Given the description of an element on the screen output the (x, y) to click on. 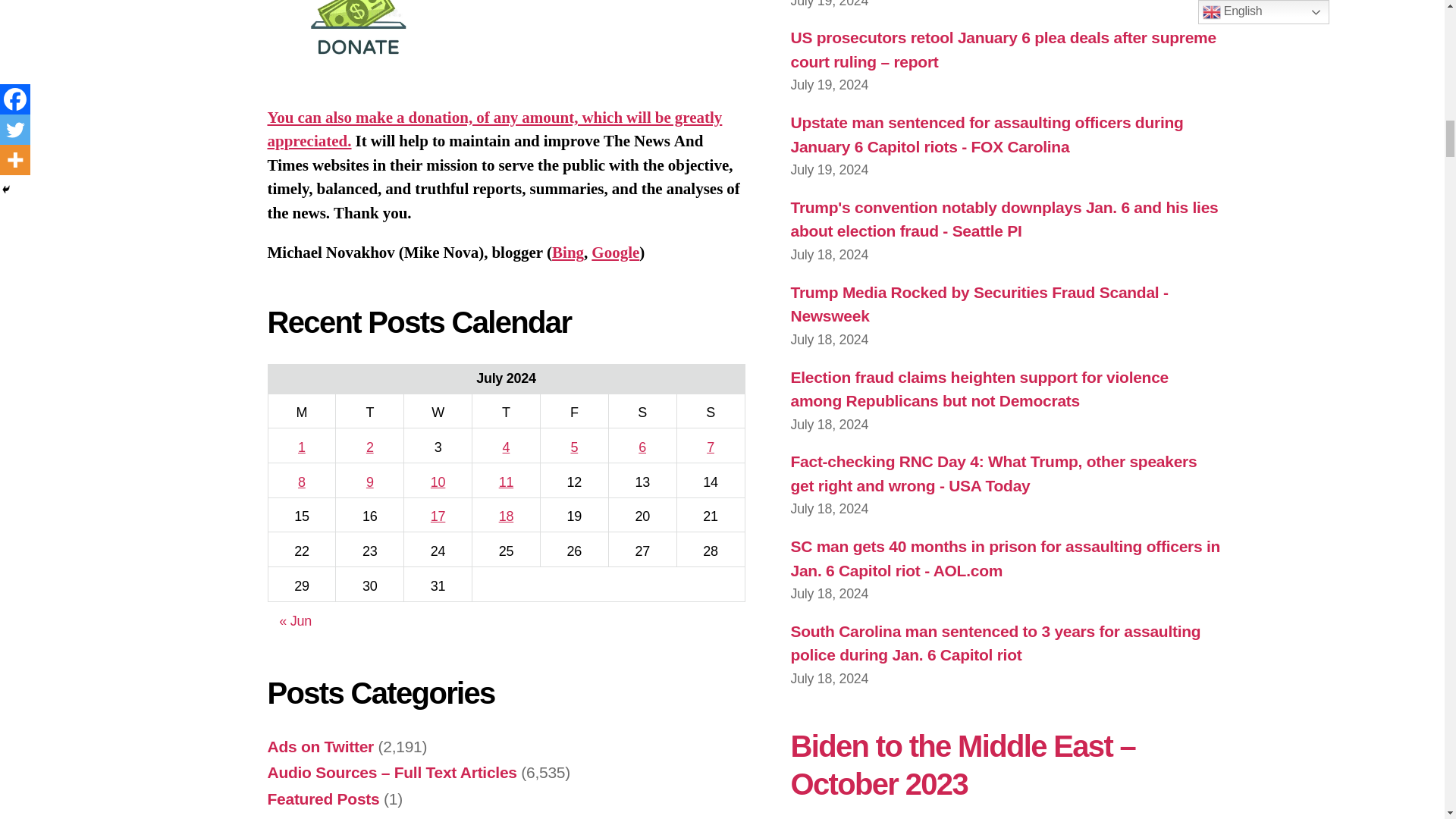
Monday (301, 410)
Wednesday (437, 410)
Thursday (505, 410)
Friday (574, 410)
Saturday (642, 410)
Sunday (710, 410)
Tuesday (370, 410)
